Given the description of an element on the screen output the (x, y) to click on. 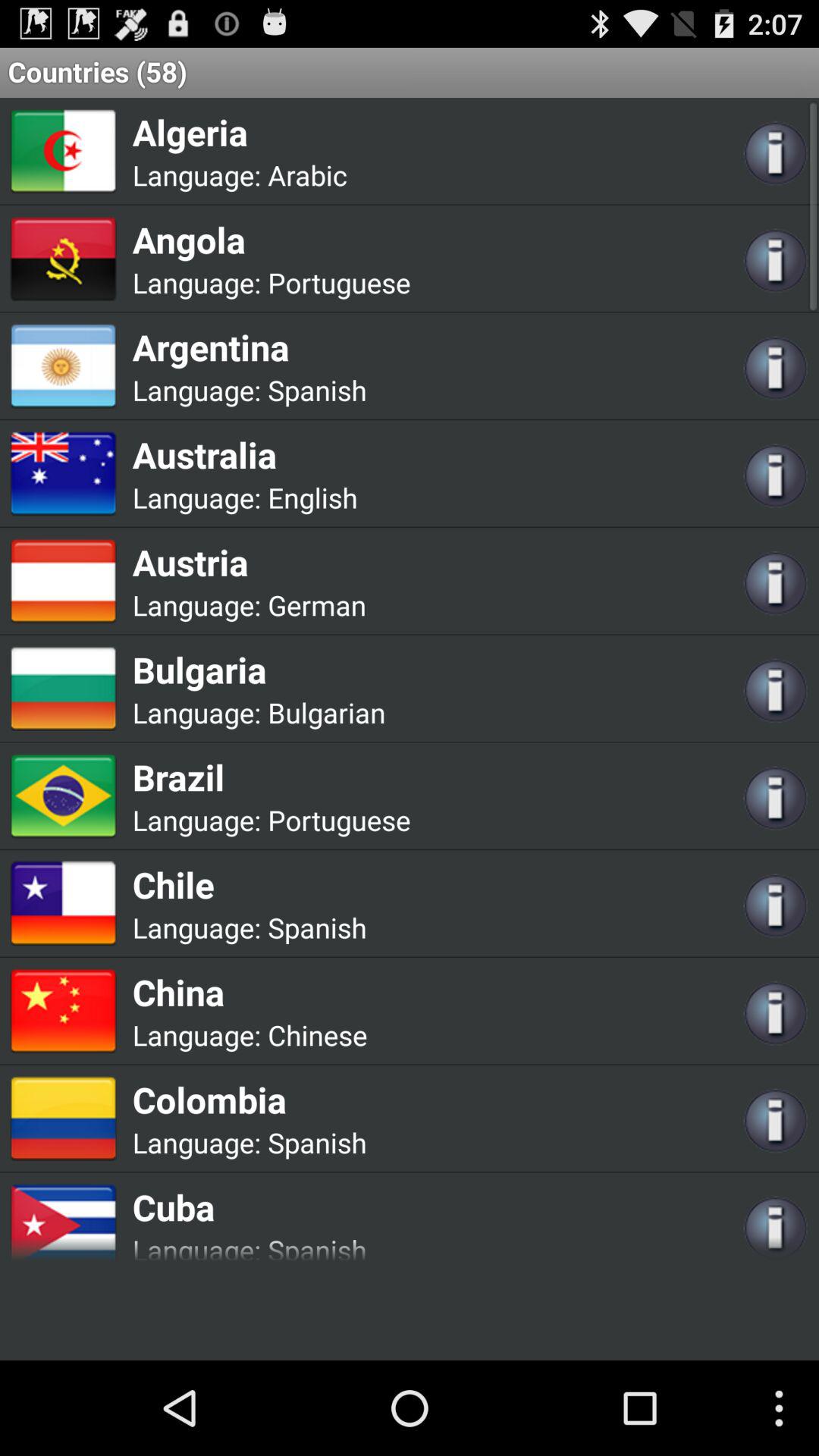
choose item to the right of the language:  app (317, 1034)
